Given the description of an element on the screen output the (x, y) to click on. 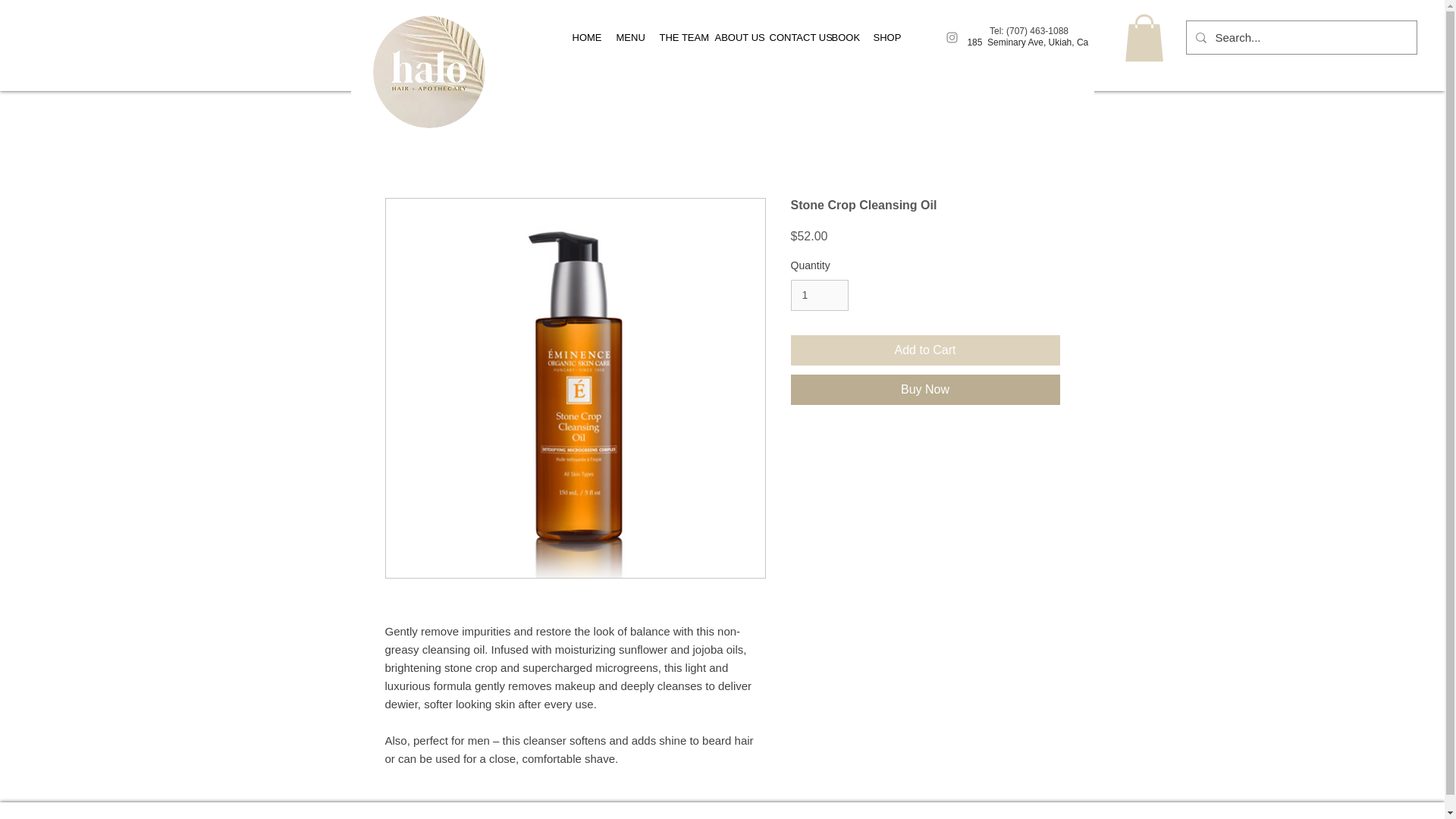
HOME (582, 37)
1 (818, 295)
Buy Now (924, 389)
ABOUT US (730, 37)
Add to Cart (924, 349)
CONTACT US (789, 37)
BOOK (841, 37)
MENU (626, 37)
THE TEAM (675, 37)
